Given the description of an element on the screen output the (x, y) to click on. 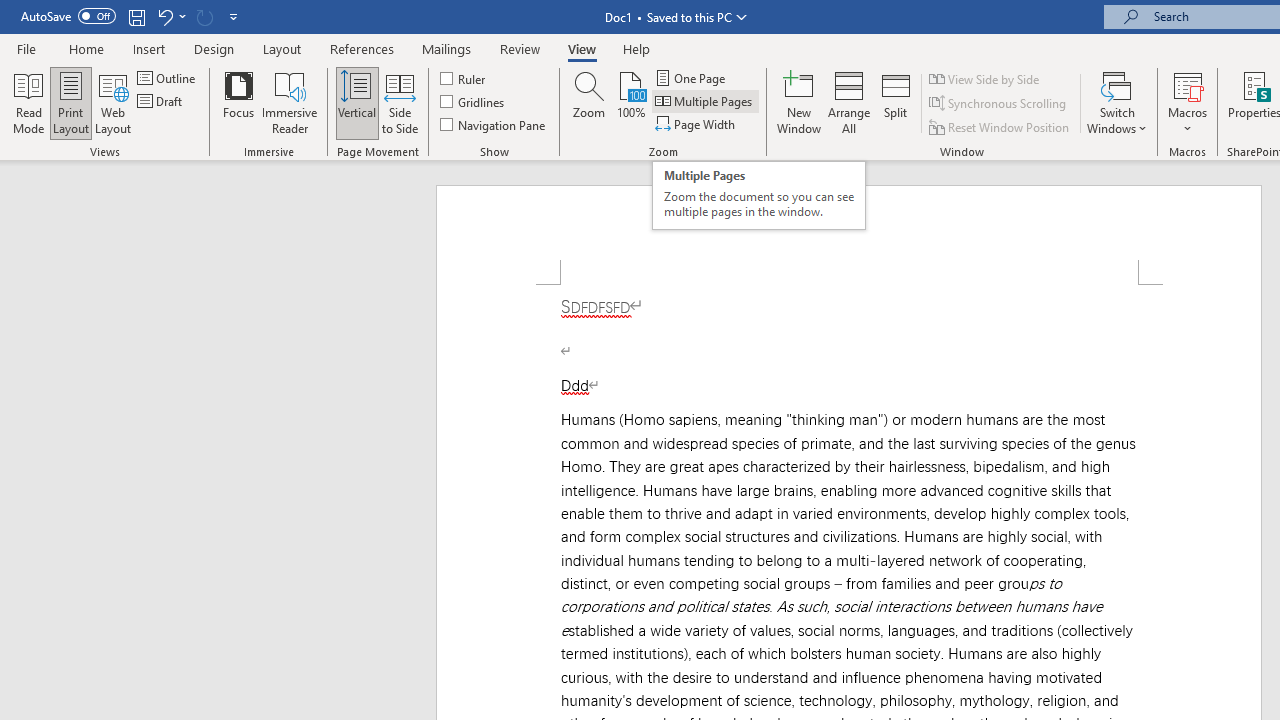
Vertical (356, 102)
Split (895, 102)
Navigation Pane (493, 124)
View Side by Side (985, 78)
Macros (1187, 102)
Can't Repeat (204, 15)
Reset Window Position (1000, 126)
Page Width (696, 124)
